Given the description of an element on the screen output the (x, y) to click on. 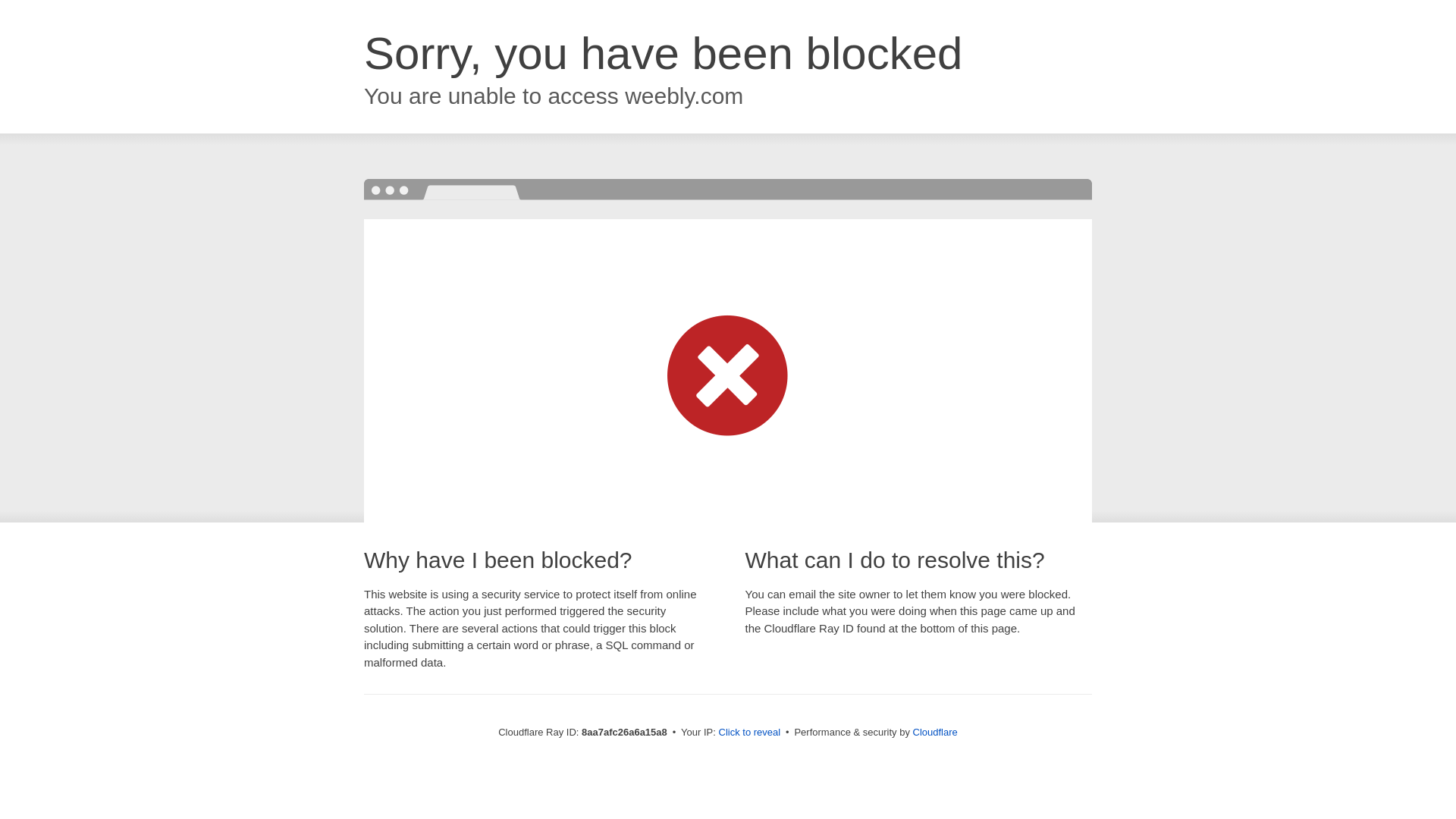
Cloudflare (935, 731)
Click to reveal (749, 732)
